Given the description of an element on the screen output the (x, y) to click on. 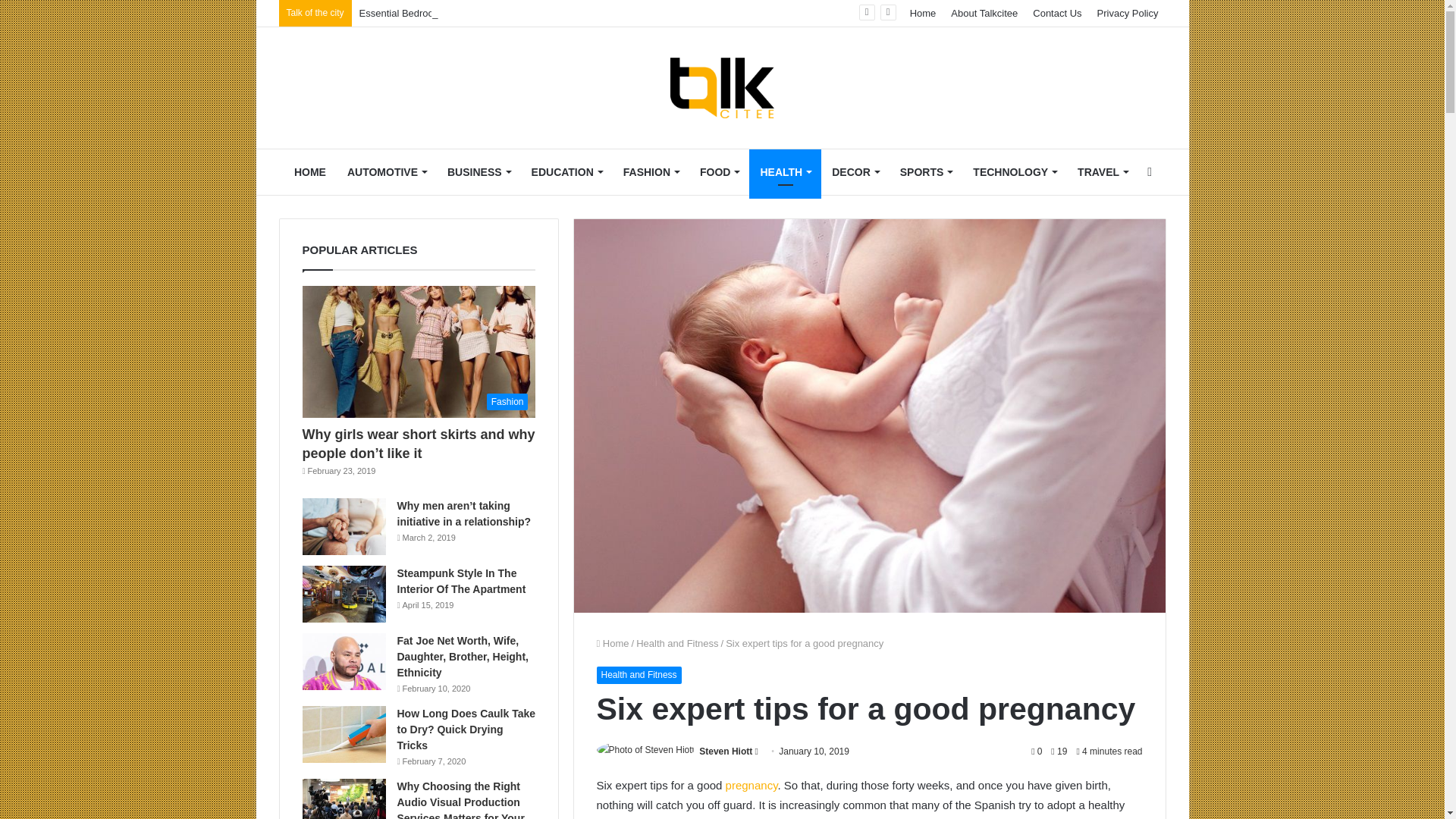
Home (922, 13)
SPORTS (925, 171)
Contact Us (1057, 13)
DECOR (855, 171)
HOME (309, 171)
FASHION (650, 171)
Health and Fitness (676, 643)
Talkcitee.com (721, 87)
About Talkcitee (984, 13)
Essential Bedroom Furniture (421, 12)
